Given the description of an element on the screen output the (x, y) to click on. 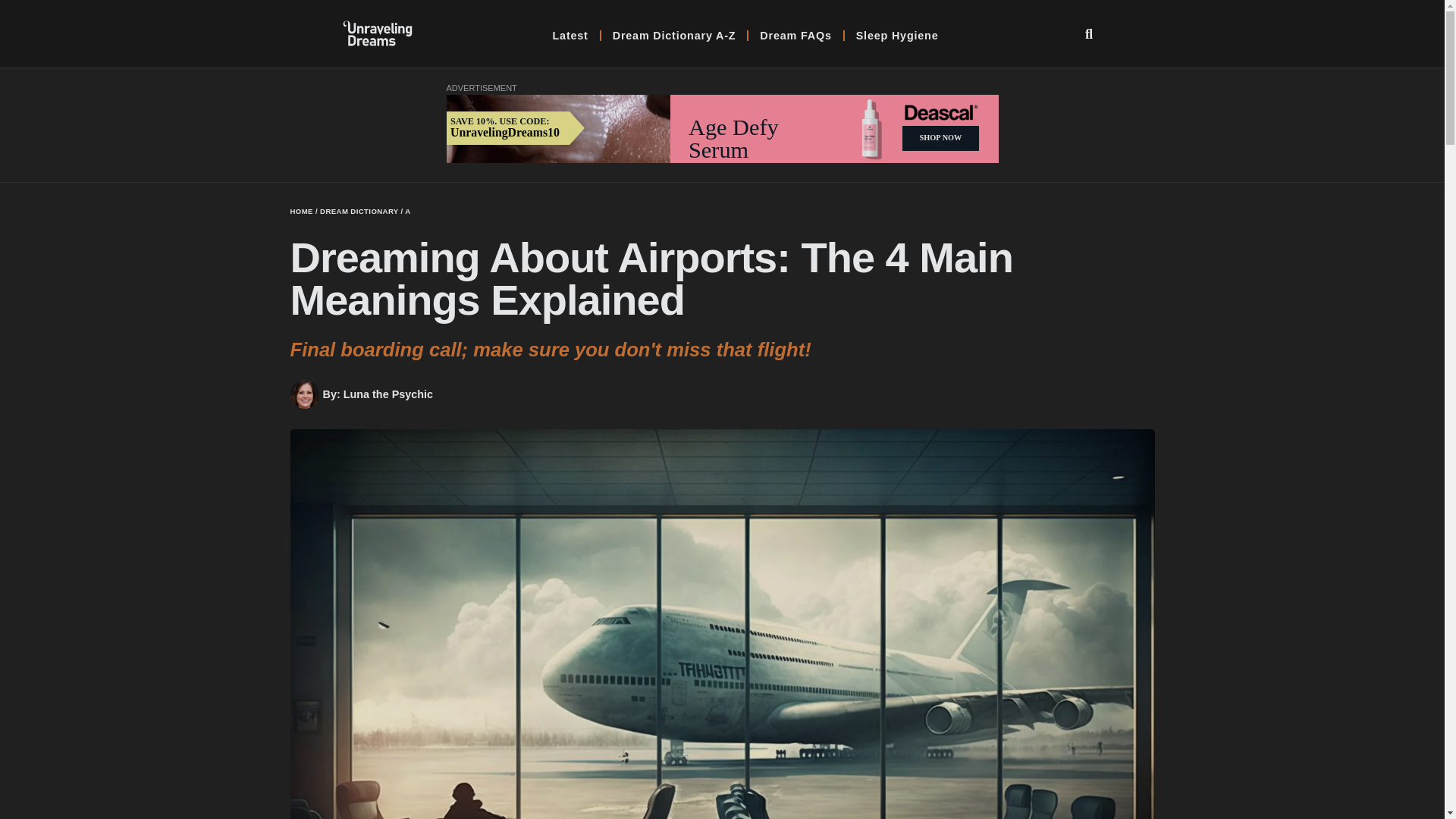
By: Luna the Psychic (360, 394)
HOME (301, 211)
Dream FAQs (795, 35)
Sleep Hygiene (897, 35)
Dream Dictionary A-Z (674, 35)
Latest (570, 35)
DREAM DICTIONARY (358, 211)
